Given the description of an element on the screen output the (x, y) to click on. 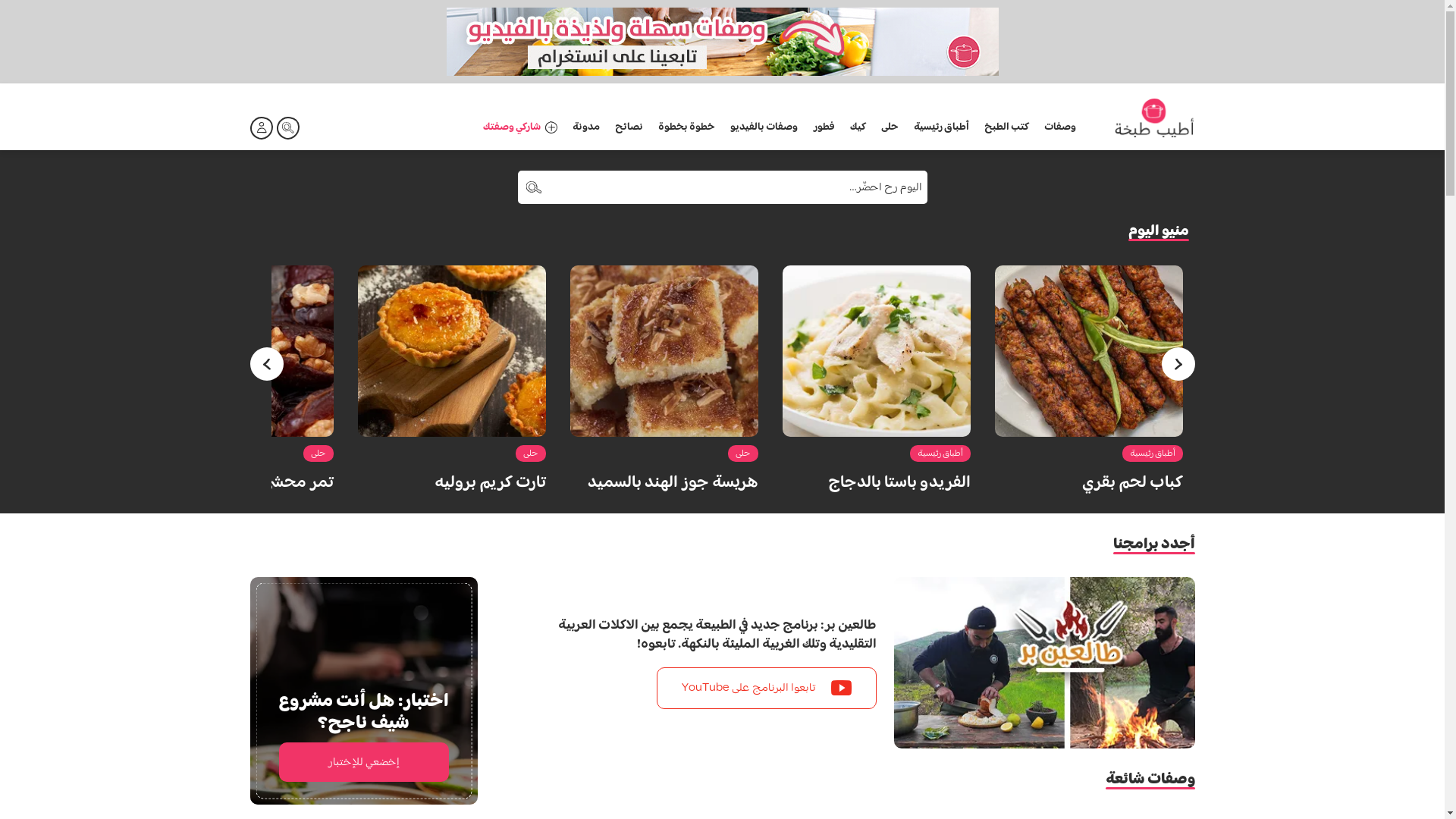
Next Element type: text (1178, 363)
Previous Element type: text (266, 363)
